Given the description of an element on the screen output the (x, y) to click on. 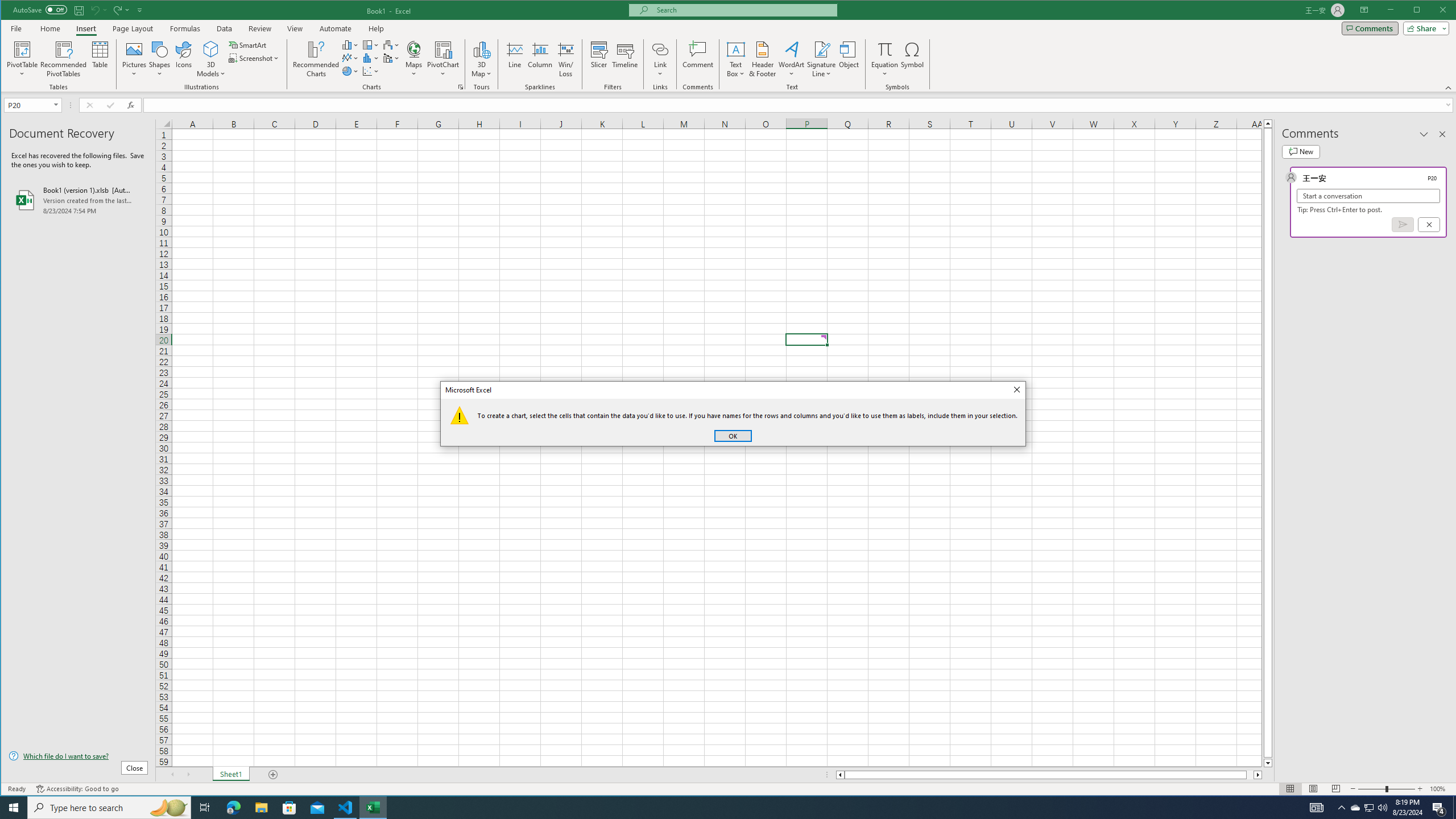
Insert Hierarchy Chart (371, 44)
Link (659, 59)
Post comment (Ctrl + Enter) (1402, 224)
Insert Statistic Chart (371, 57)
Excel - 1 running window (373, 807)
Class: Static (458, 415)
Timeline (625, 59)
Type here to search (108, 807)
Win/Loss (565, 59)
